Given the description of an element on the screen output the (x, y) to click on. 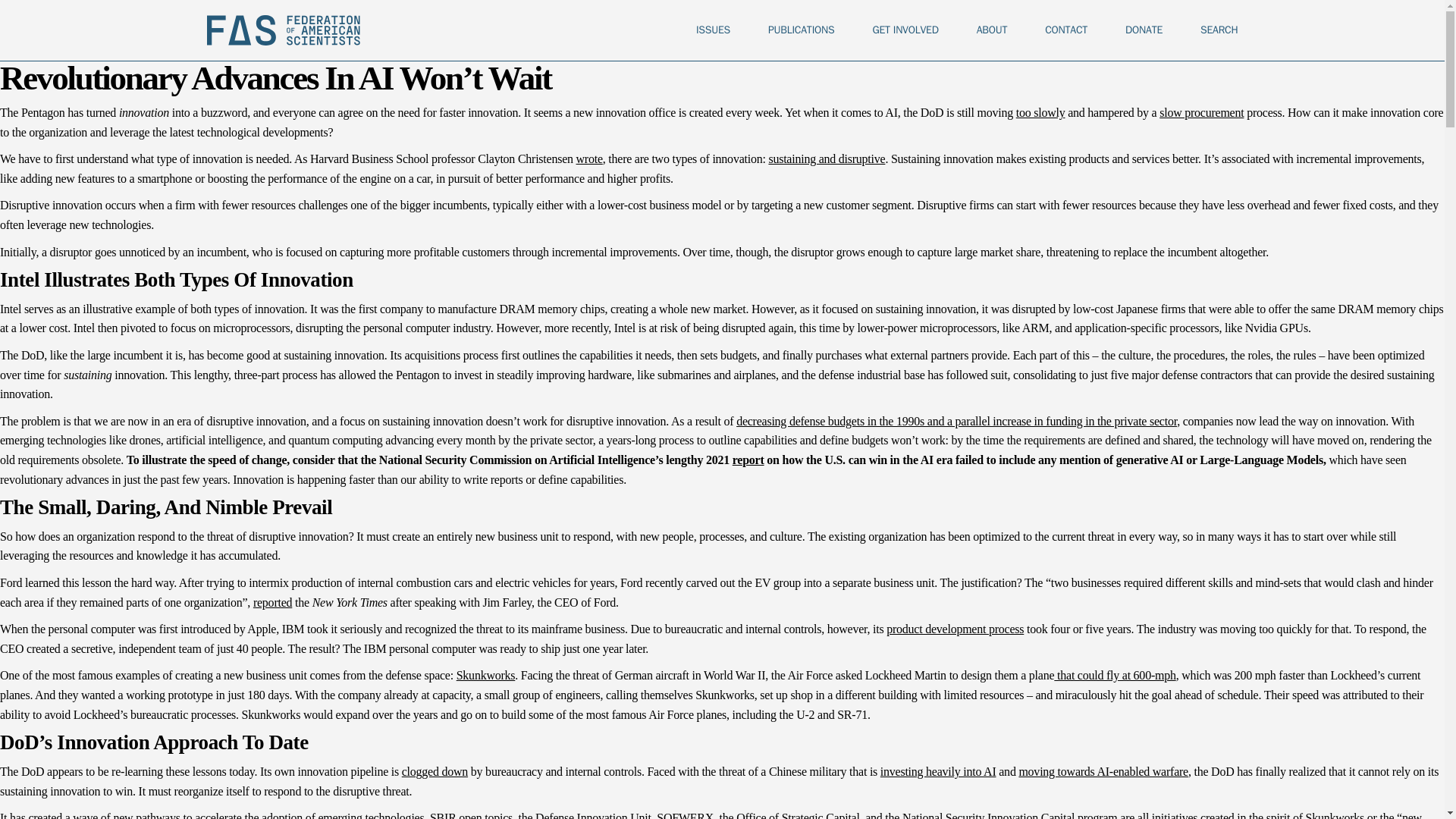
ISSUES (712, 29)
GET INVOLVED (904, 29)
ABOUT (991, 29)
PUBLICATIONS (801, 29)
Federation of American Scientists (282, 30)
